Given the description of an element on the screen output the (x, y) to click on. 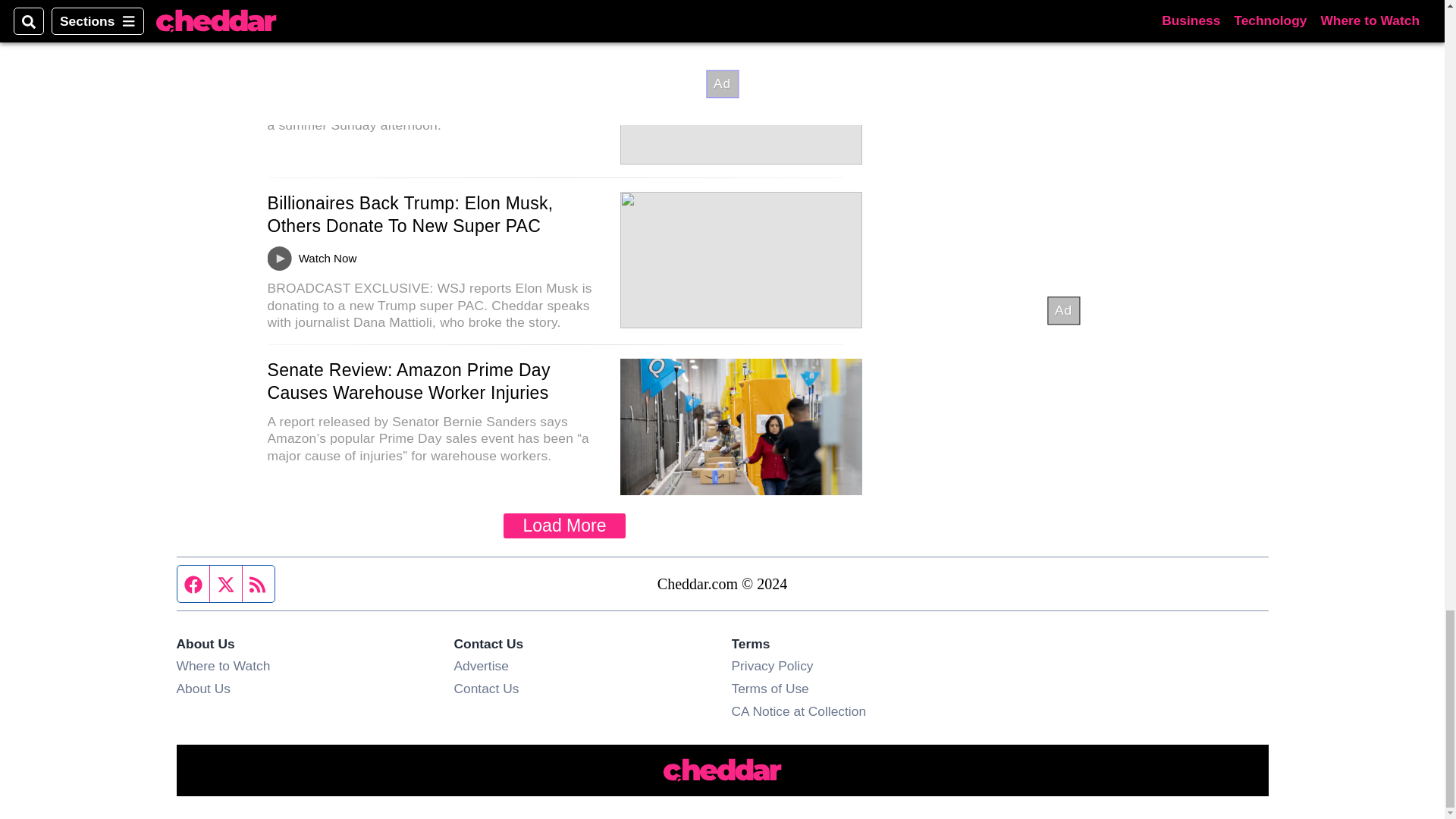
Load More (564, 525)
